Given the description of an element on the screen output the (x, y) to click on. 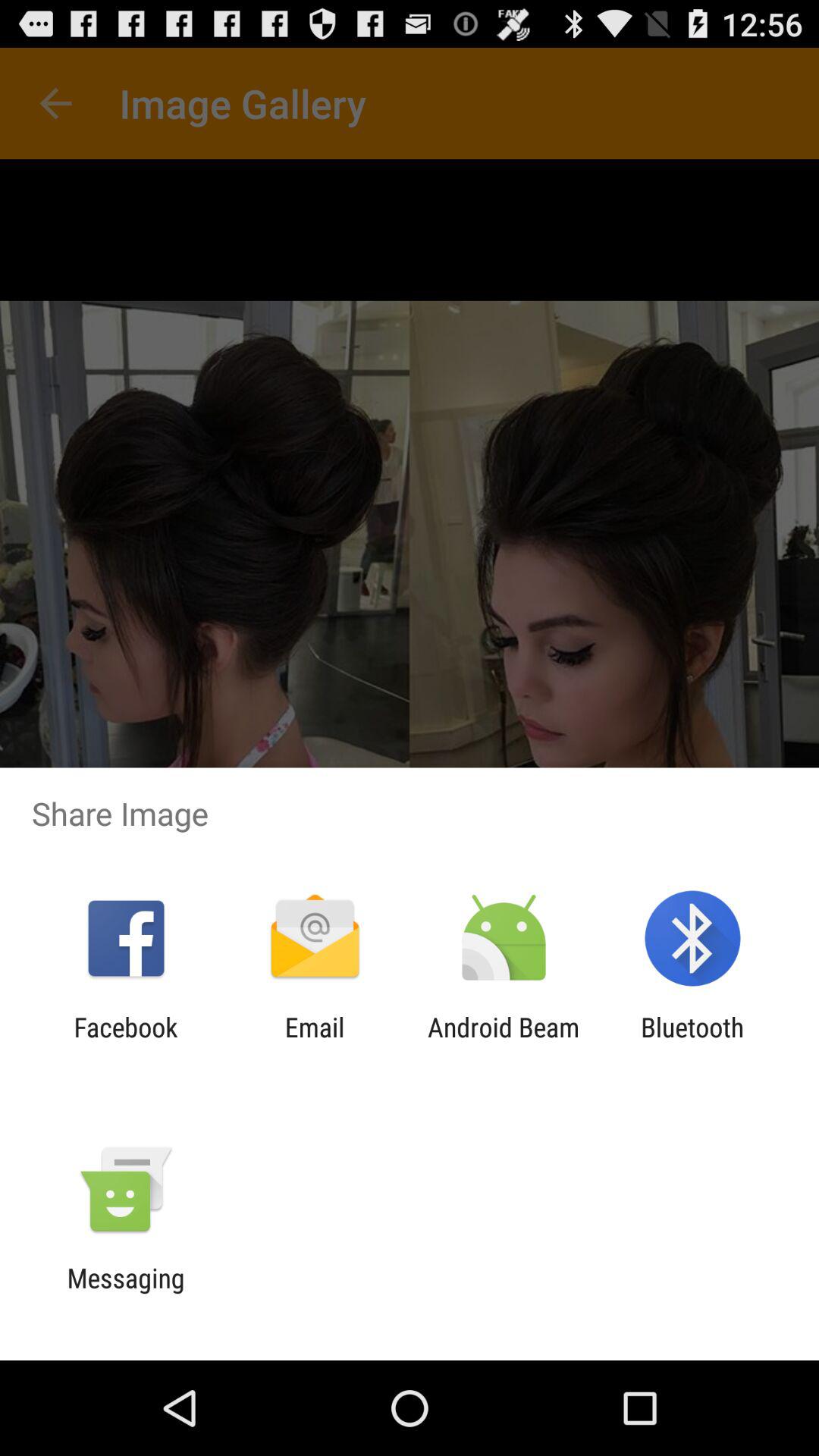
open the icon to the right of the android beam (691, 1042)
